Given the description of an element on the screen output the (x, y) to click on. 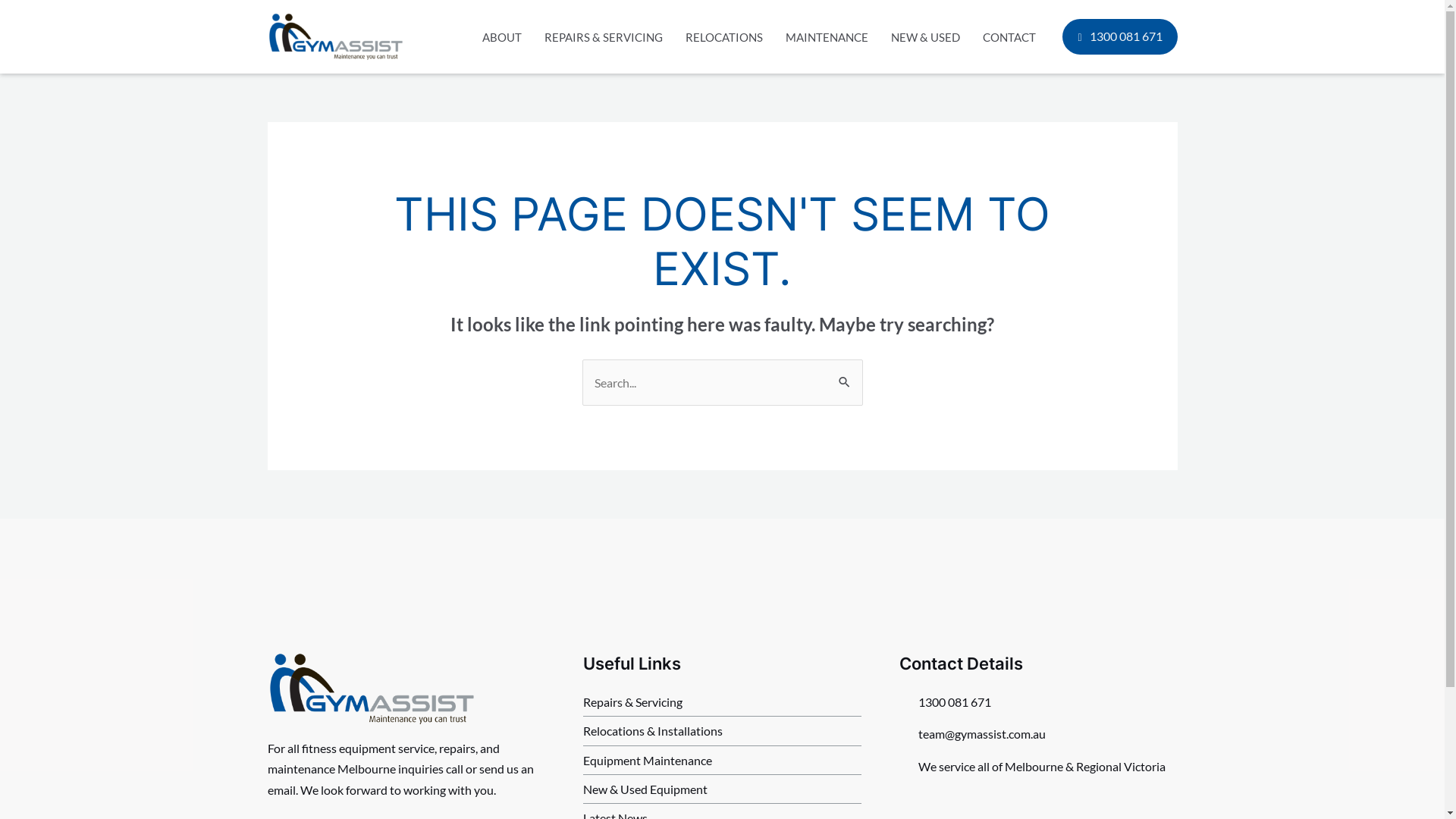
Relocations & Installations Element type: text (722, 730)
CONTACT Element type: text (1008, 36)
Search Element type: text (845, 374)
1300 081 671 Element type: text (1038, 701)
MAINTENANCE Element type: text (826, 36)
1300 081 671 Element type: text (1119, 36)
New & Used Equipment Element type: text (722, 789)
team@gymassist.com.au Element type: text (1038, 733)
REPAIRS & SERVICING Element type: text (603, 36)
RELOCATIONS Element type: text (723, 36)
We service all of Melbourne & Regional Victoria Element type: text (1038, 766)
ABOUT Element type: text (501, 36)
NEW & USED Element type: text (925, 36)
Equipment Maintenance Element type: text (722, 760)
Repairs & Servicing Element type: text (722, 701)
